Given the description of an element on the screen output the (x, y) to click on. 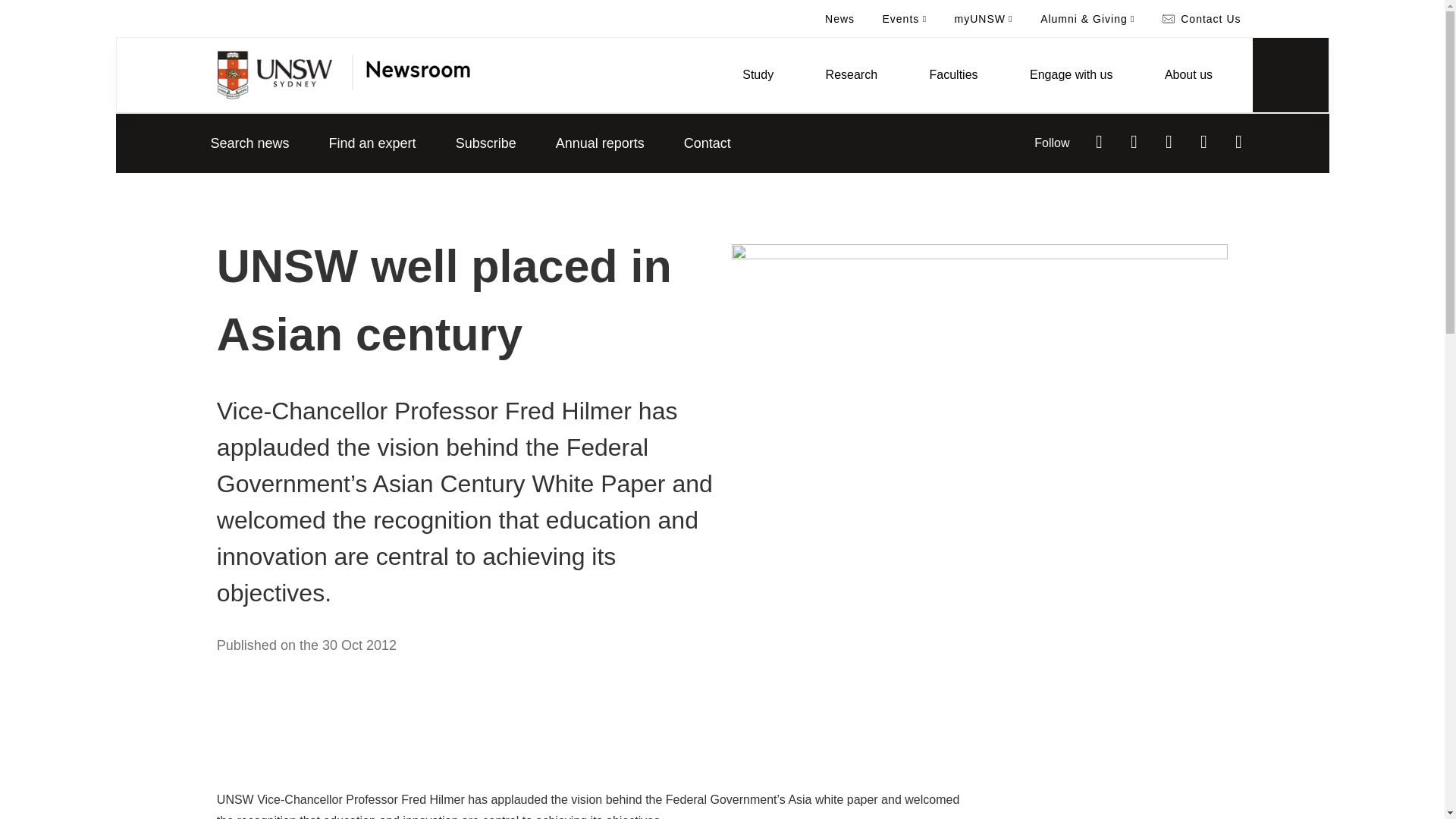
Study (757, 74)
Partner (410, 74)
Home (273, 74)
Research (851, 74)
